Given the description of an element on the screen output the (x, y) to click on. 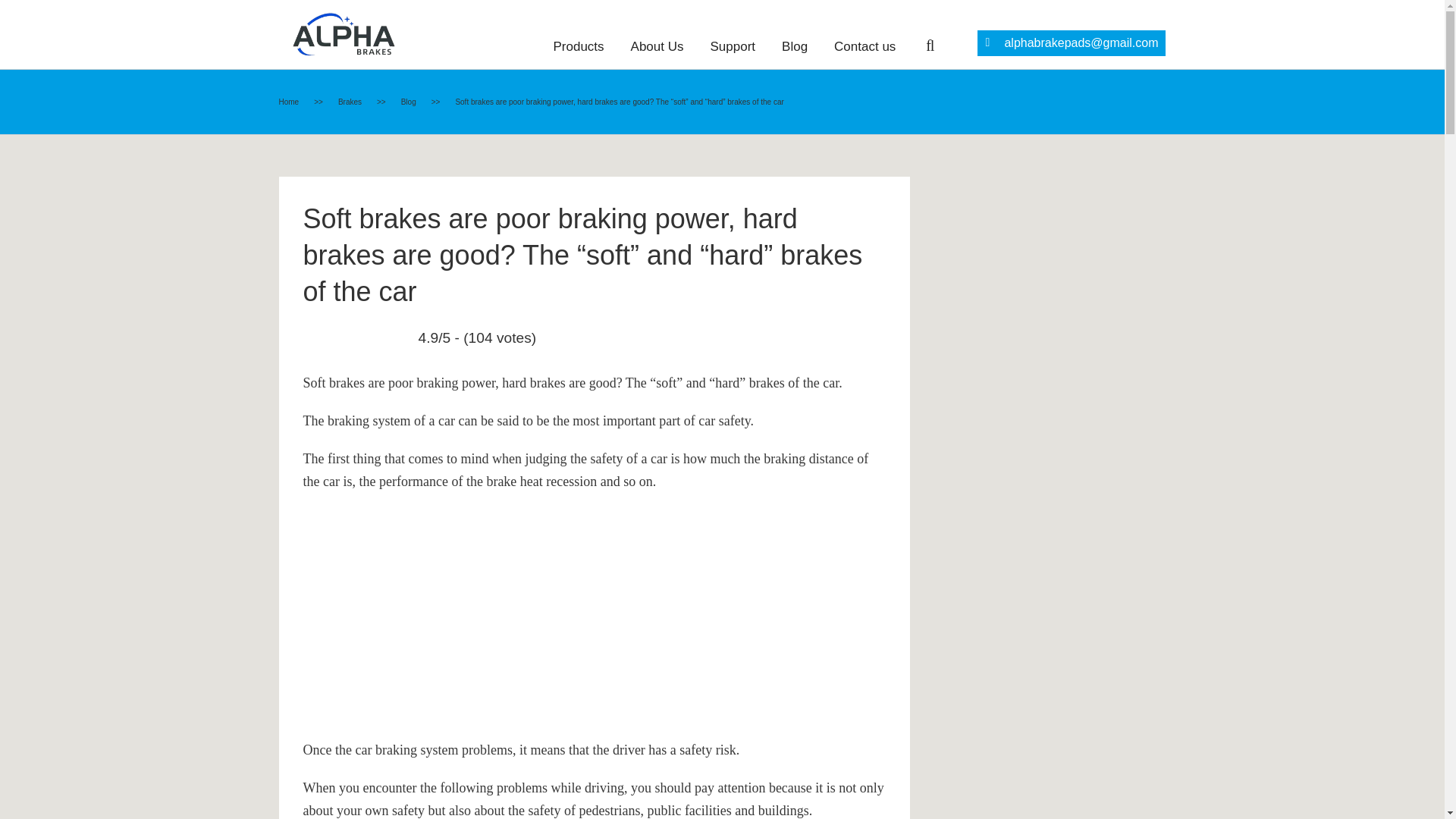
Brakes (351, 101)
YouTube video player (515, 612)
Blog (410, 101)
Products (578, 46)
